Given the description of an element on the screen output the (x, y) to click on. 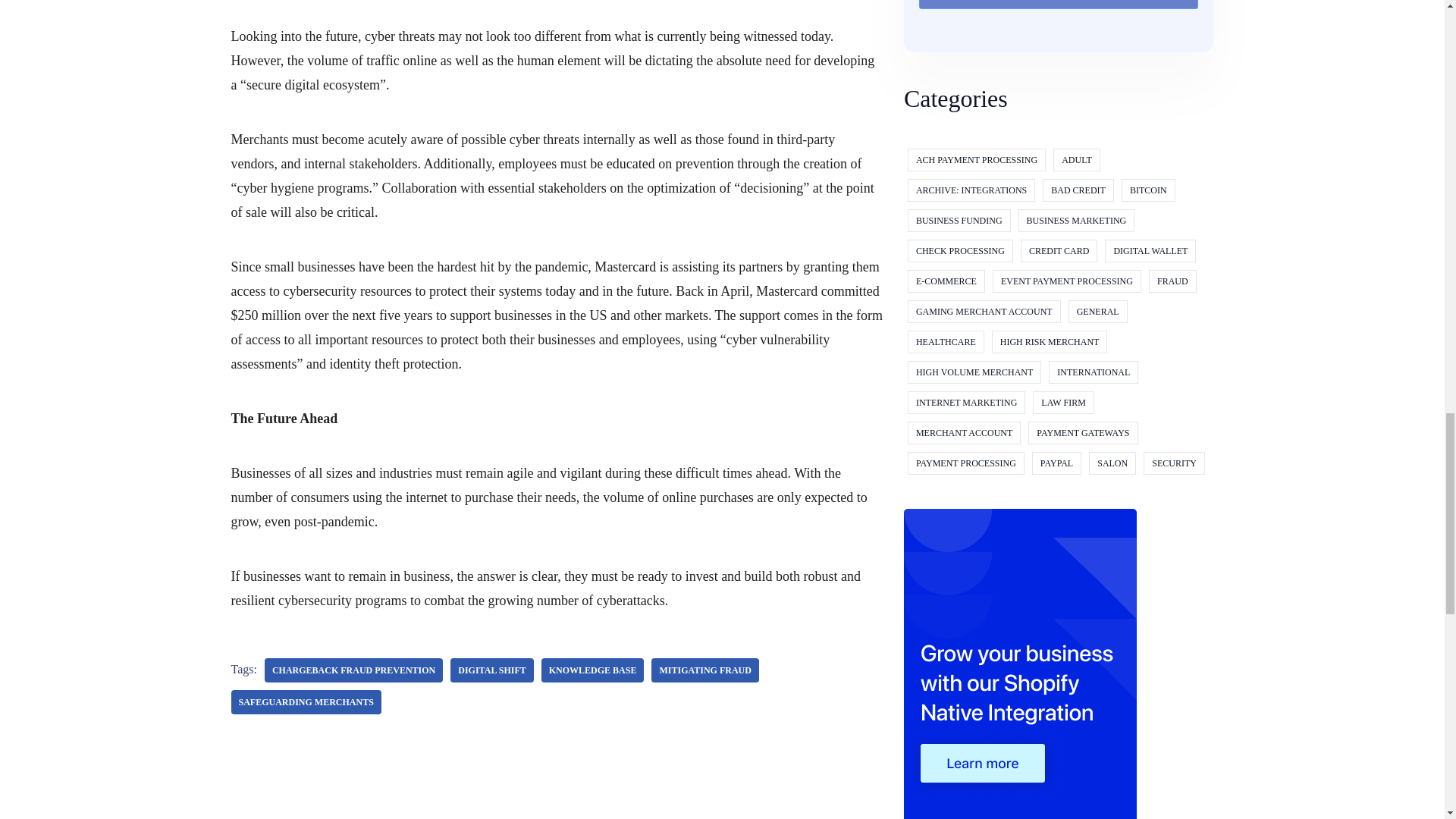
Safeguarding Merchants (305, 702)
Digital Shift (490, 670)
Knowledge Base (593, 670)
chargeback fraud prevention (353, 670)
Mitigating Fraud (704, 670)
